Given the description of an element on the screen output the (x, y) to click on. 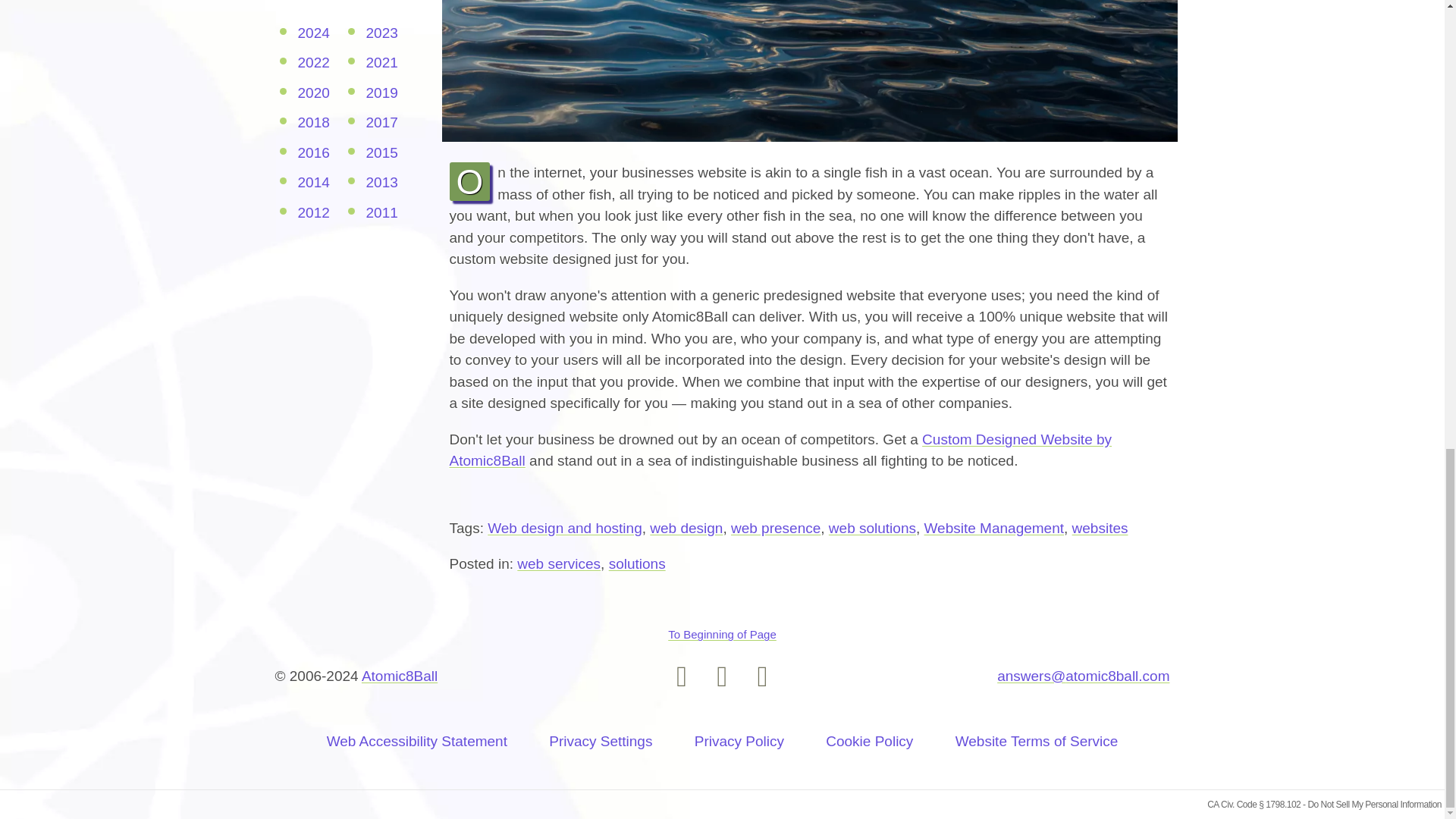
2024 (313, 32)
2023 (381, 32)
solutions (636, 563)
Website Management (994, 528)
Facebook (721, 676)
Web design and hosting (564, 528)
websites (1099, 528)
2022 (313, 62)
2020 (313, 92)
web solutions (871, 528)
Custom Designed Website by Atomic8Ball (780, 450)
web presence (775, 528)
LinkedIn (762, 676)
web design (685, 528)
2021 (381, 62)
